Given the description of an element on the screen output the (x, y) to click on. 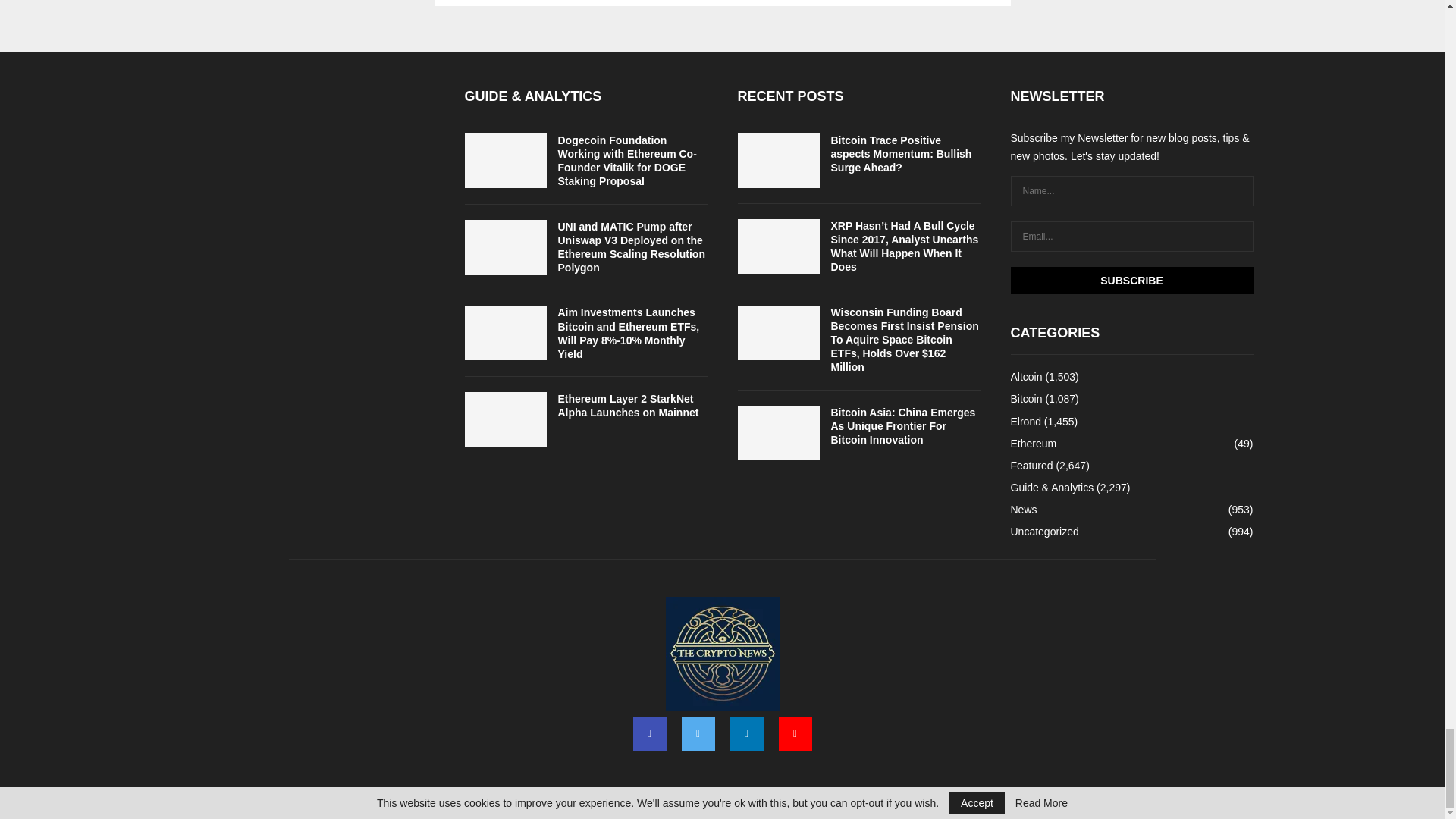
Subscribe (1131, 280)
